Given the description of an element on the screen output the (x, y) to click on. 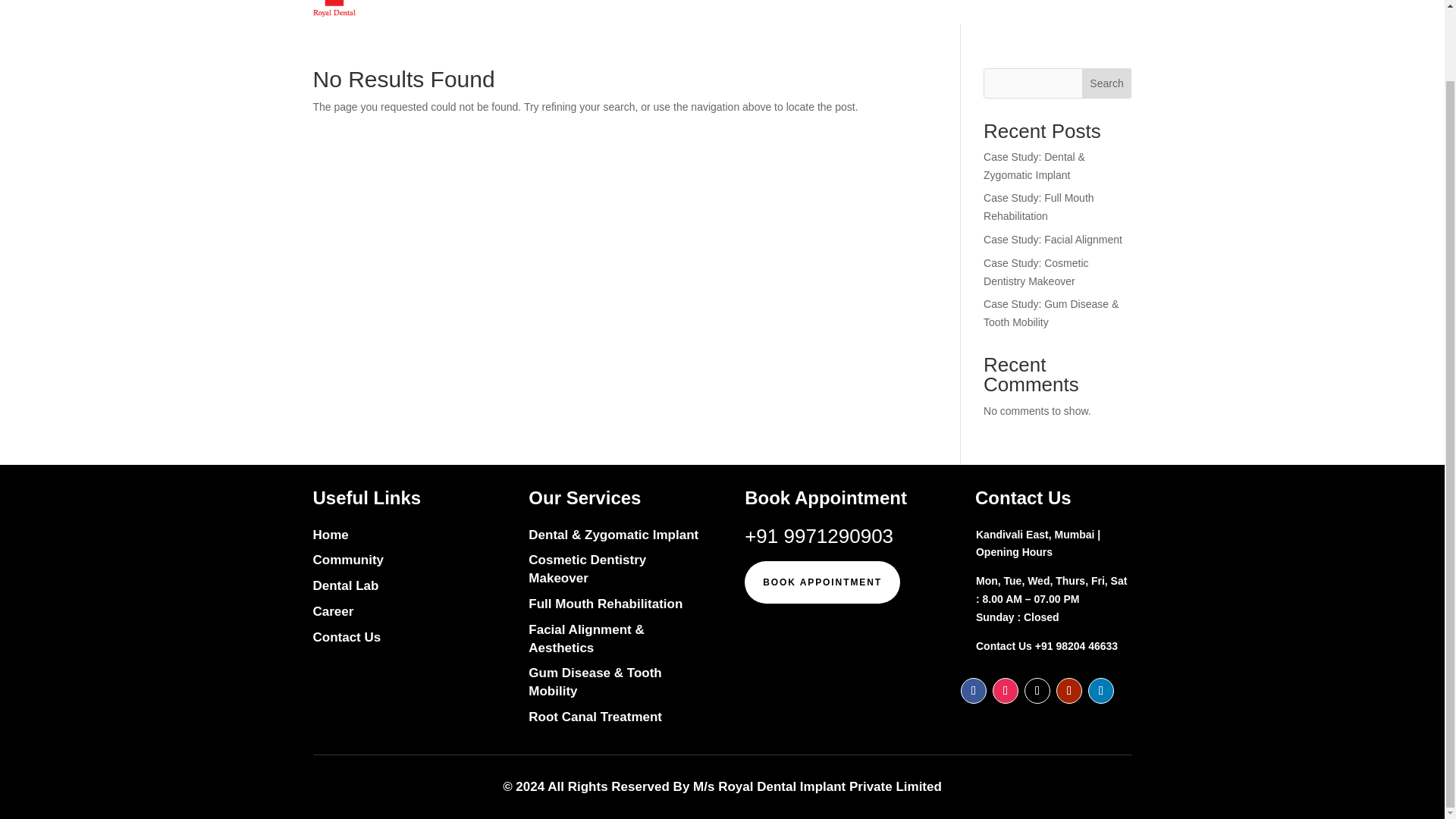
Follow on X (1037, 690)
Follow on Instagram (1004, 690)
Case Study: Cosmetic Dentistry Makeover (1036, 272)
Follow on Facebook (973, 690)
Case Study: Full Mouth Rehabilitation (1039, 206)
BOOK APPOINTMENT (821, 582)
Case Study: Facial Alignment (1053, 239)
Follow on Youtube (1069, 690)
Search (1106, 82)
Follow on LinkedIn (1100, 690)
